Given the description of an element on the screen output the (x, y) to click on. 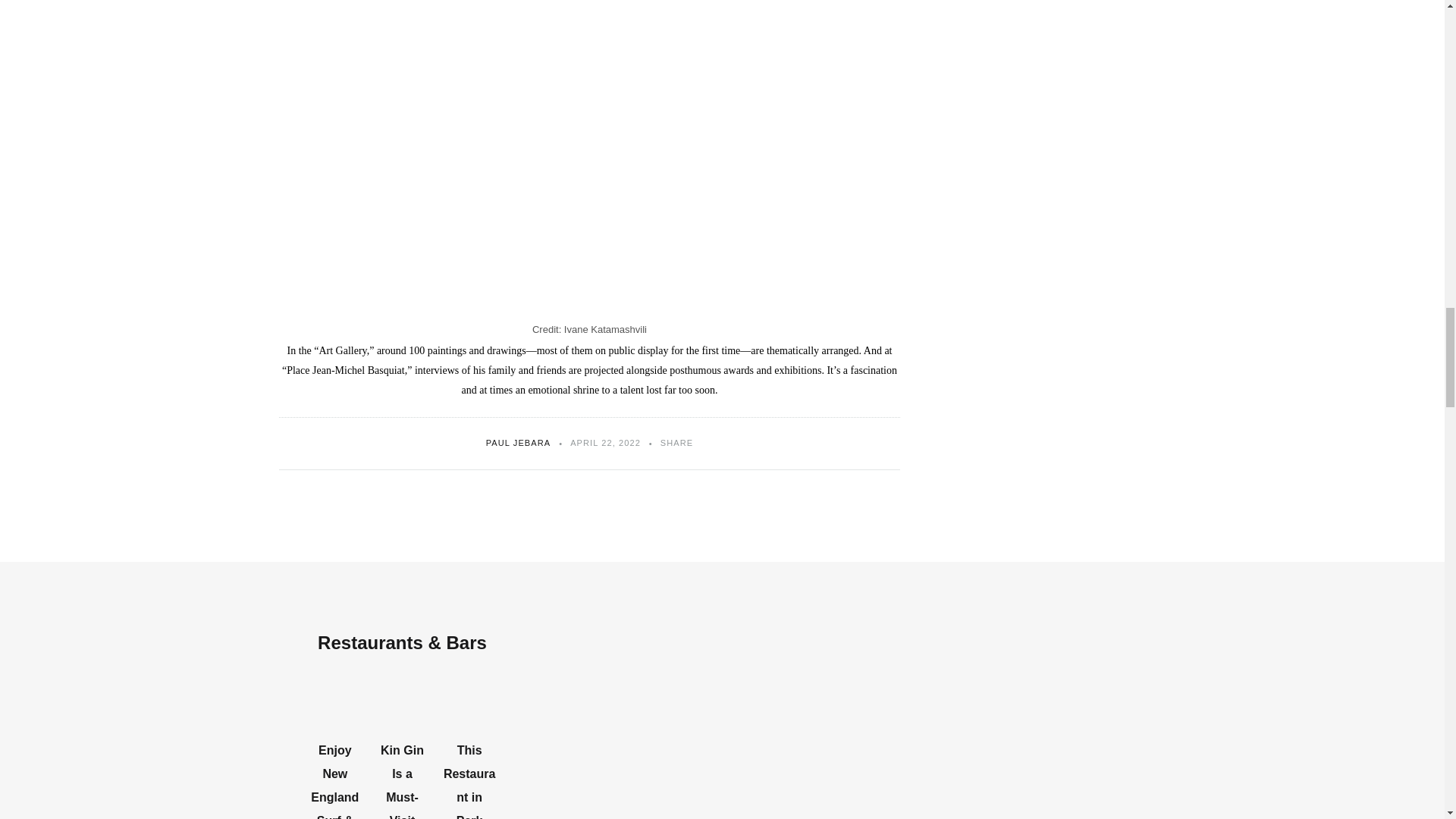
PAUL JEBARA (518, 442)
